Given the description of an element on the screen output the (x, y) to click on. 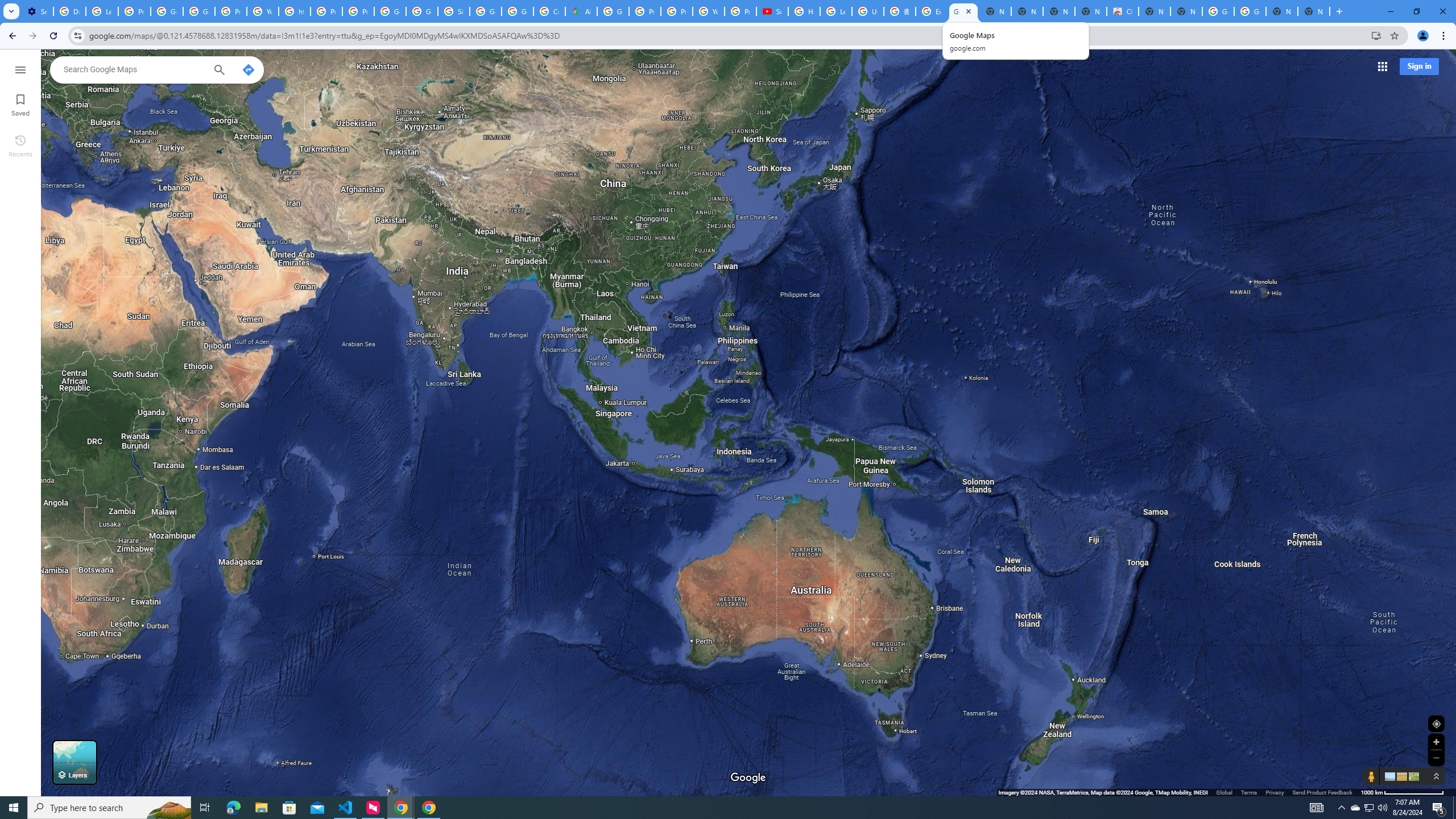
Chrome Web Store (1123, 11)
Install Google Maps (1376, 35)
YouTube (262, 11)
YouTube (708, 11)
Create your Google Account (549, 11)
Layers (74, 762)
Saved (20, 104)
Directions (247, 69)
Subscriptions - YouTube (772, 11)
Show Street View coverage (1371, 776)
